Given the description of an element on the screen output the (x, y) to click on. 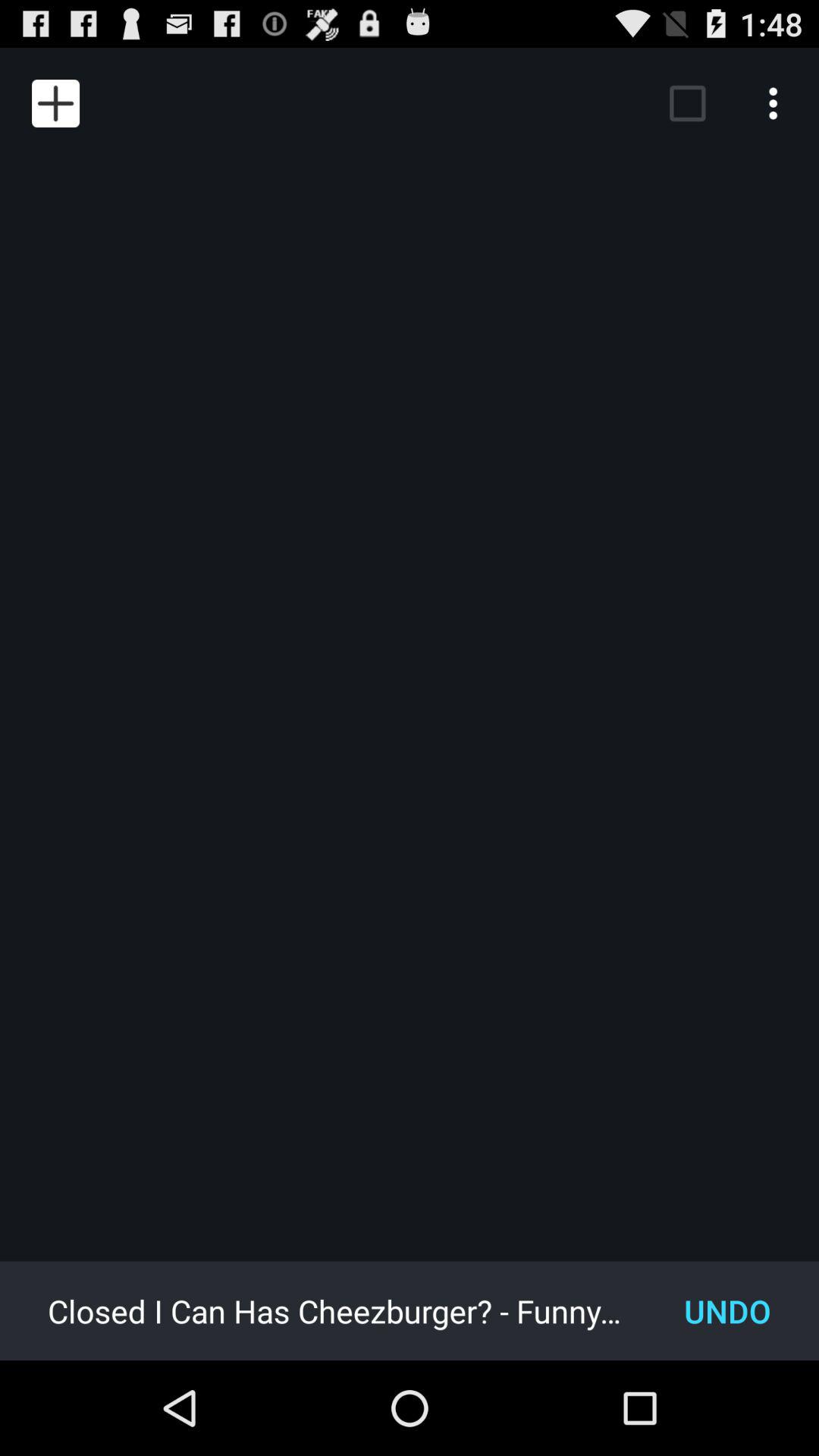
tap undo (727, 1310)
